Given the description of an element on the screen output the (x, y) to click on. 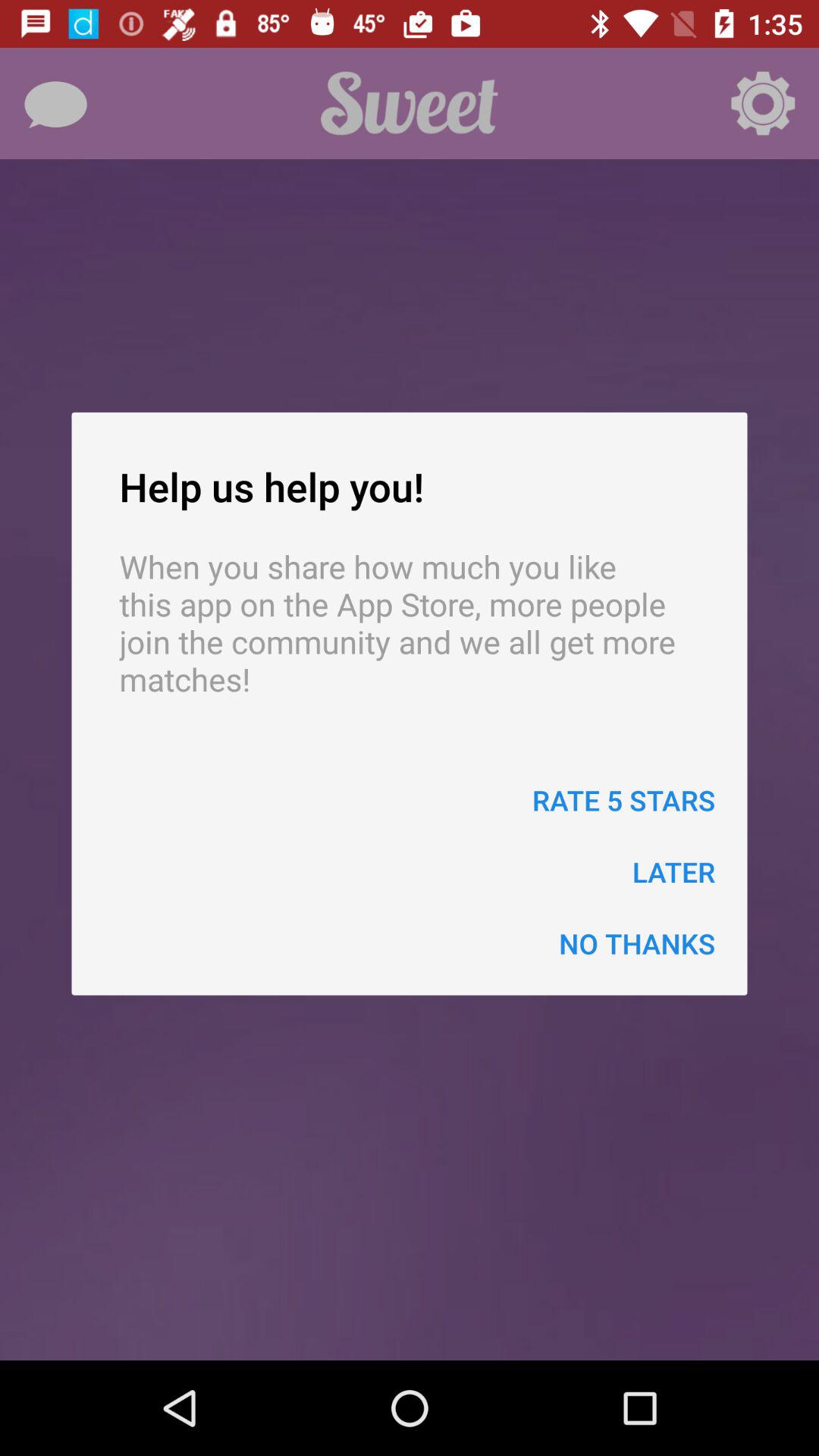
launch the icon below the later (637, 943)
